Given the description of an element on the screen output the (x, y) to click on. 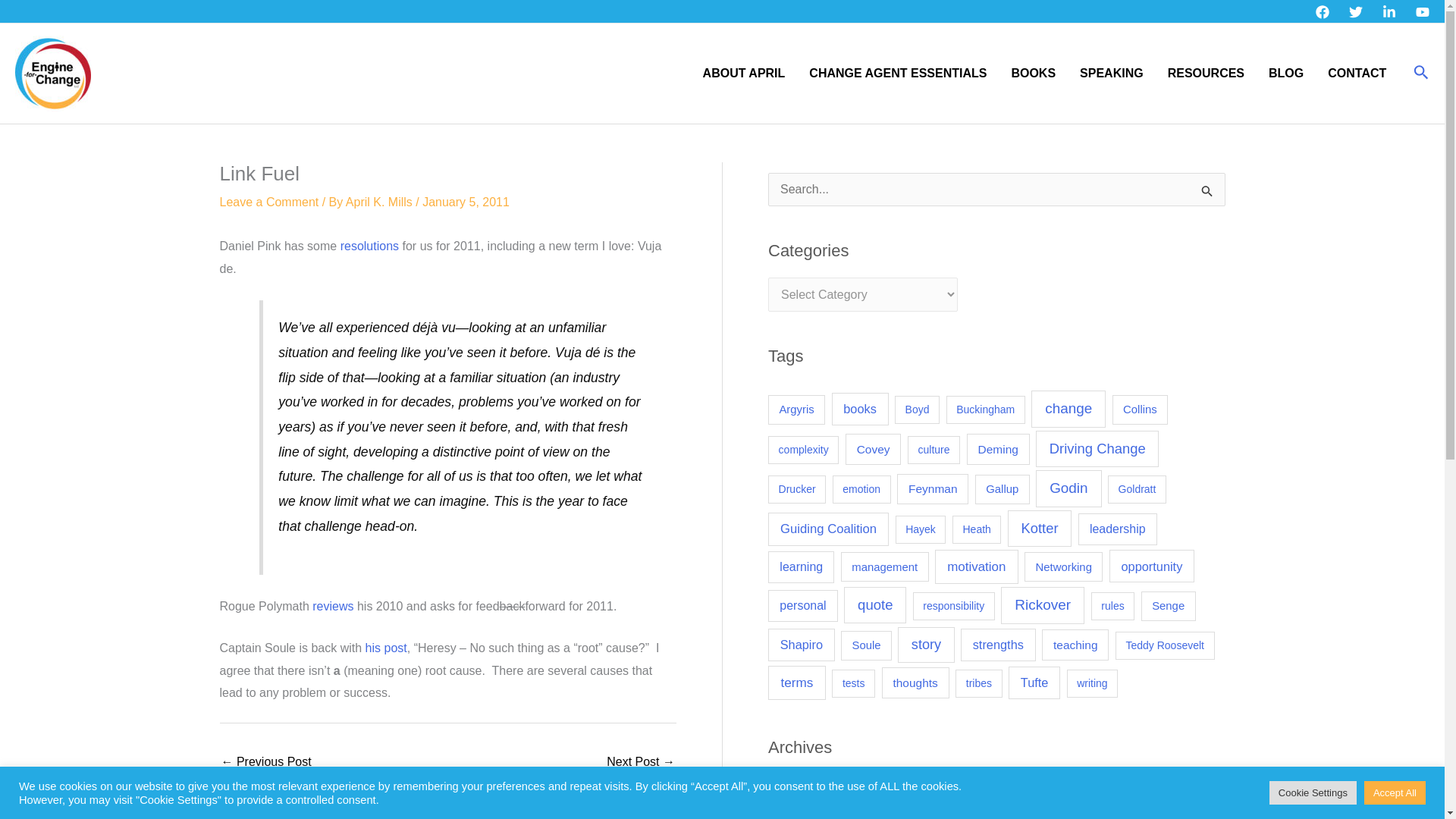
reviews (334, 605)
Search (1421, 74)
Search (1207, 193)
CONTACT (1356, 72)
April K. Mills (380, 201)
resolutions (369, 245)
CHANGE AGENT ESSENTIALS (897, 72)
Happen to Things (641, 763)
ABOUT APRIL (743, 72)
SPEAKING (1111, 72)
View all posts by April K. Mills (380, 201)
BLOG (1286, 72)
Word play (266, 763)
BOOKS (1032, 72)
Leave a Comment (268, 201)
